Given the description of an element on the screen output the (x, y) to click on. 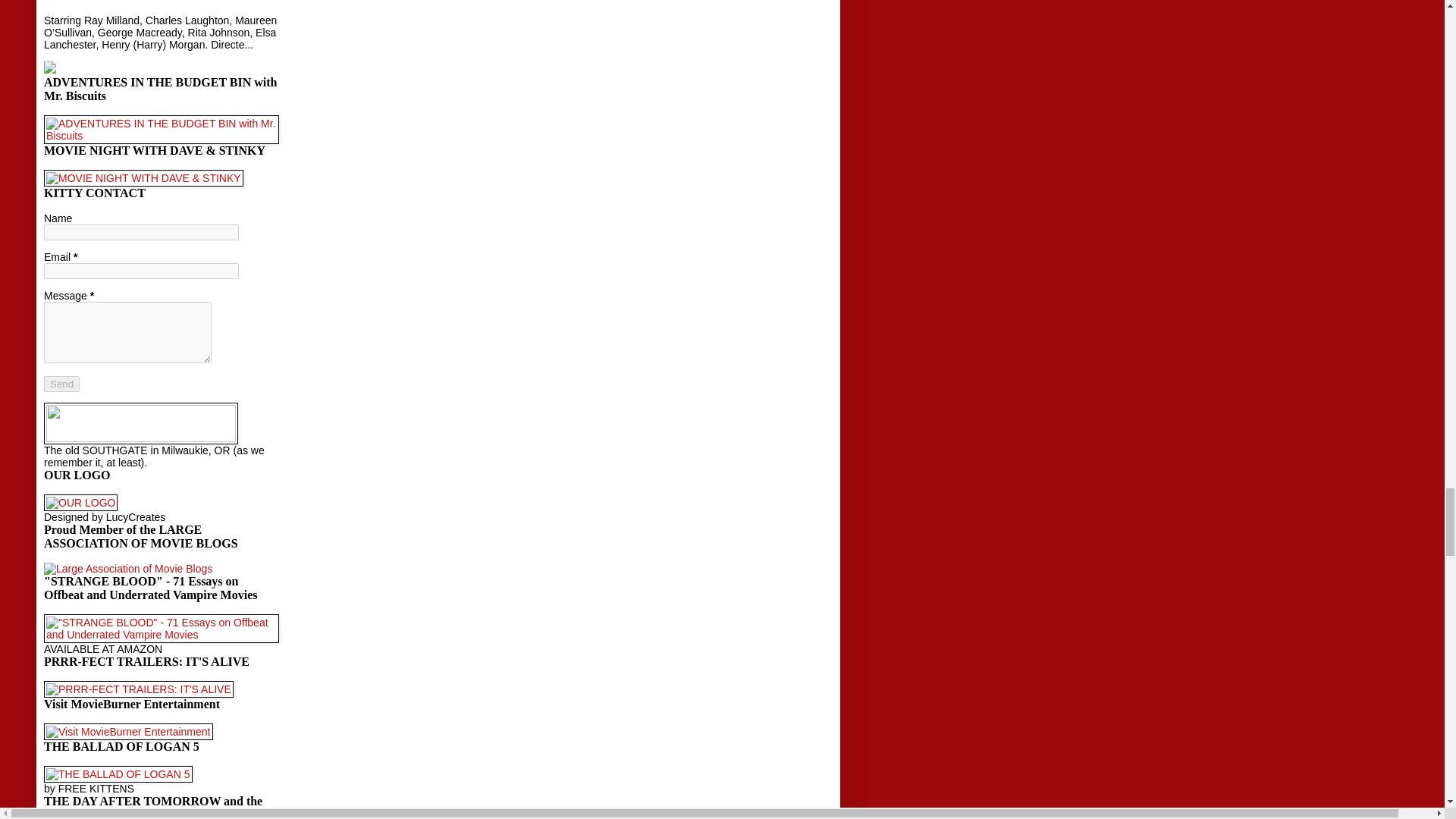
Send (61, 383)
